Given the description of an element on the screen output the (x, y) to click on. 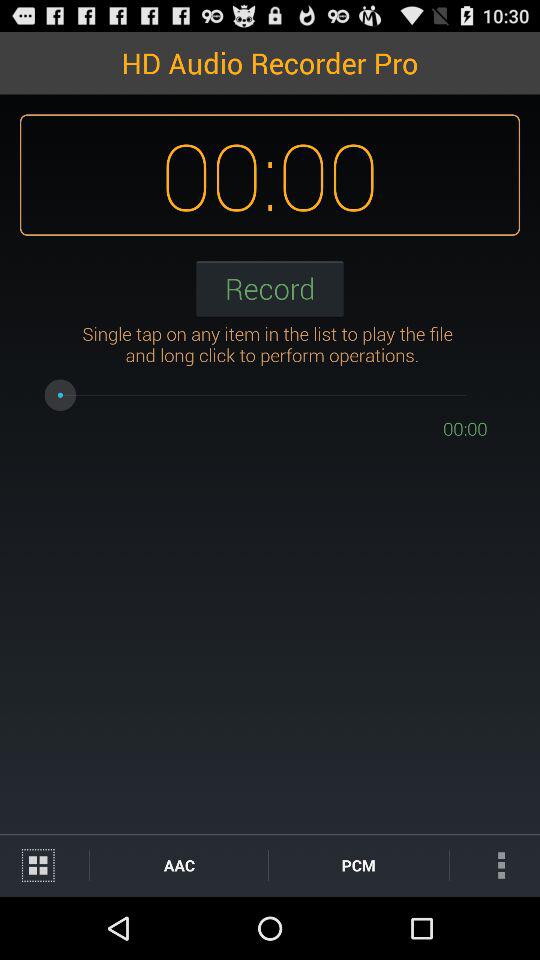
tap the record (269, 288)
